Given the description of an element on the screen output the (x, y) to click on. 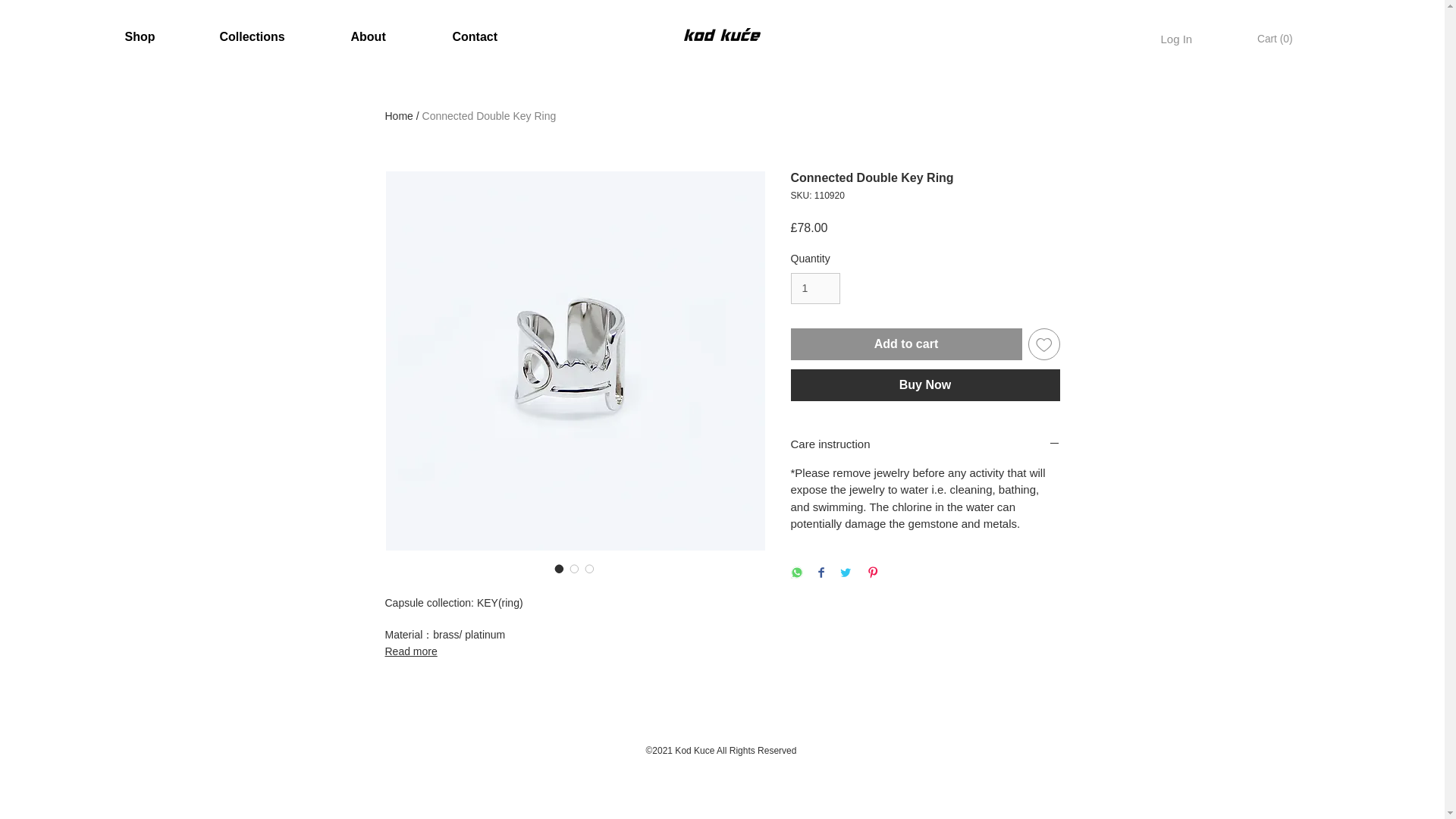
Contact (474, 36)
Collections (252, 36)
Buy Now (924, 385)
About (367, 36)
Connected Double Key Ring (489, 115)
Log In (1176, 37)
Shop (138, 36)
1 (815, 287)
Add to cart (906, 344)
Read more (574, 651)
